Given the description of an element on the screen output the (x, y) to click on. 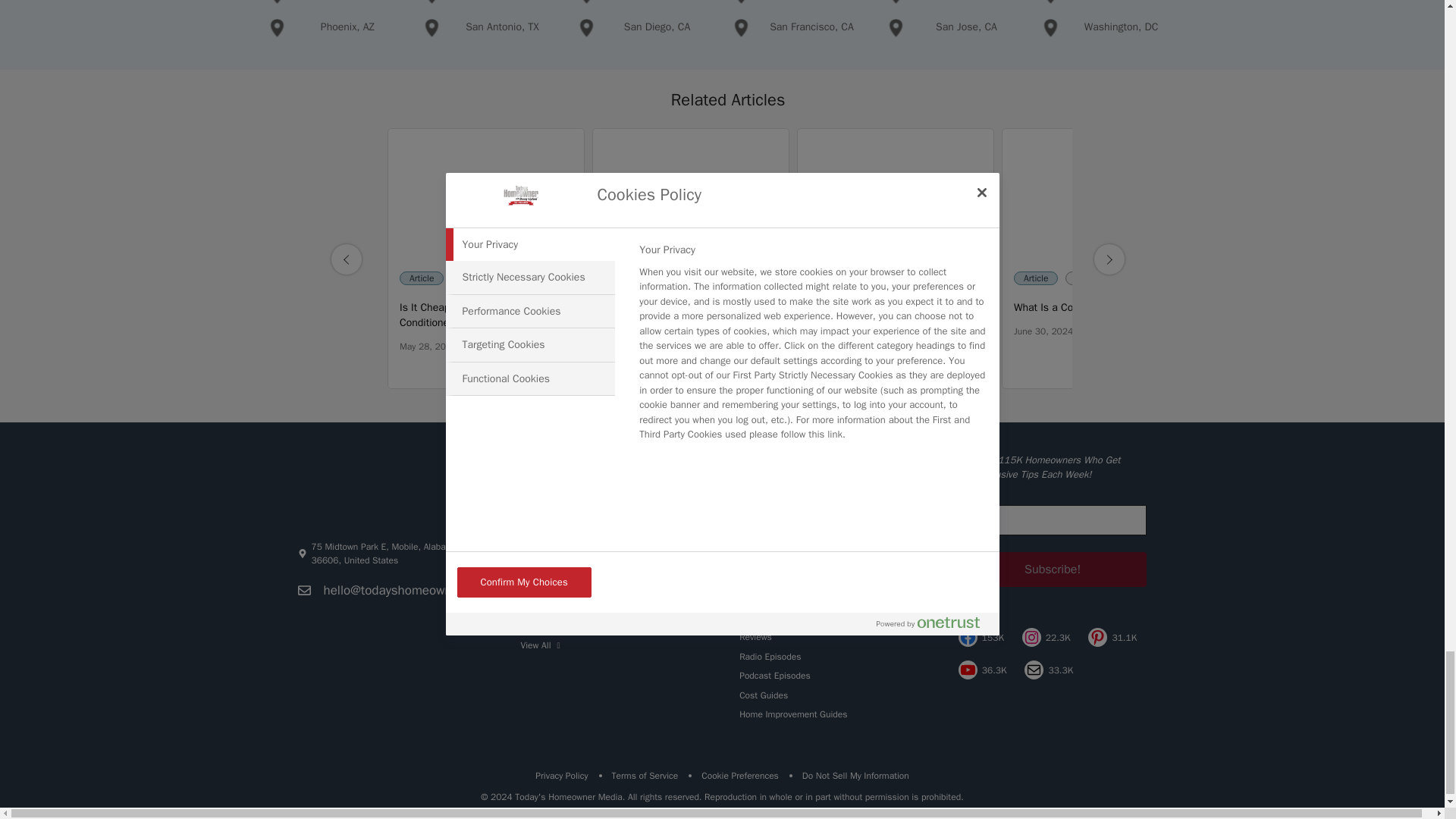
Subscribe! (1052, 569)
